Given the description of an element on the screen output the (x, y) to click on. 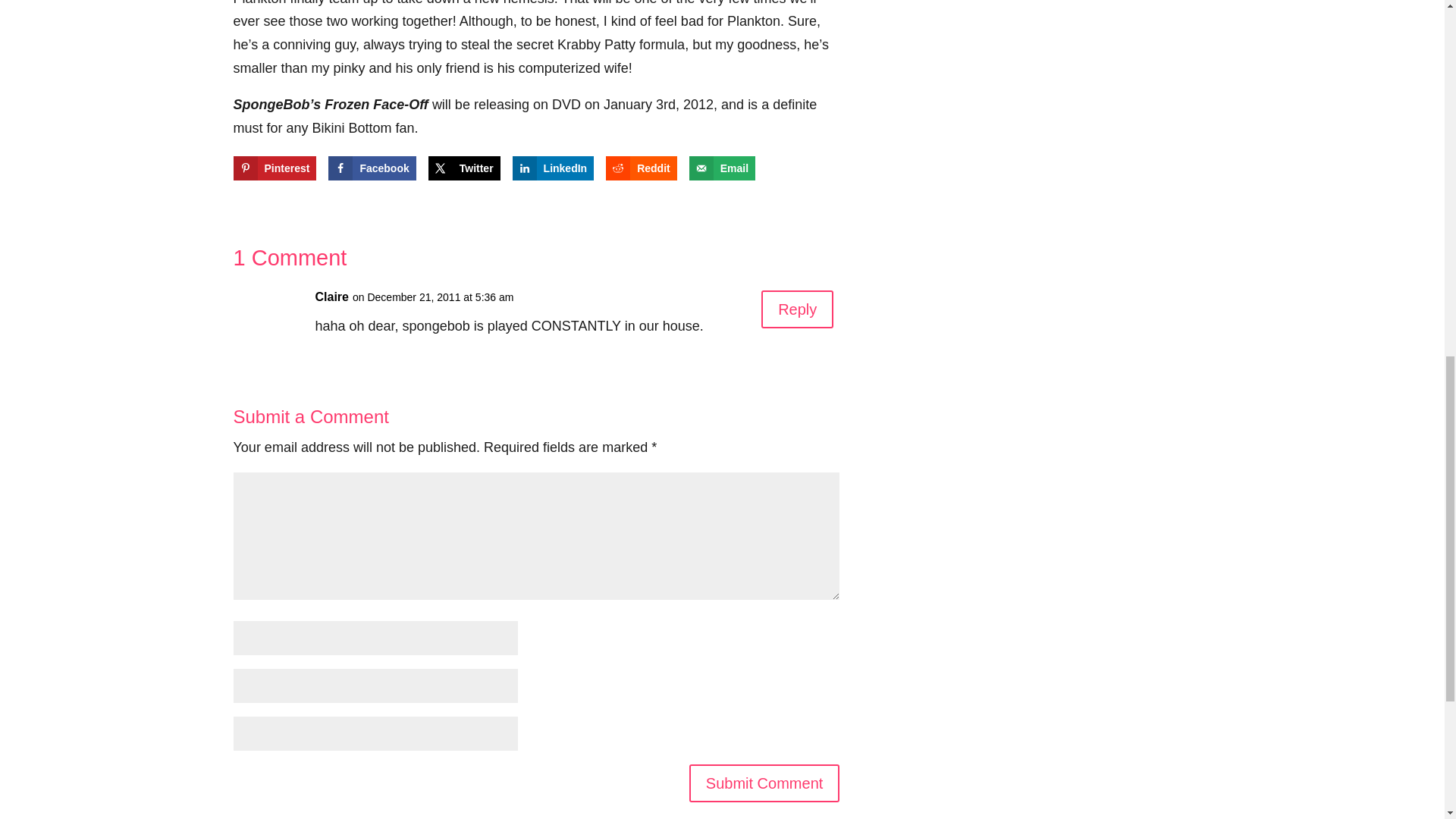
Share on X (464, 168)
Share on LinkedIn (553, 168)
Save to Pinterest (274, 168)
Submit Comment (764, 783)
Share on Facebook (371, 168)
